Given the description of an element on the screen output the (x, y) to click on. 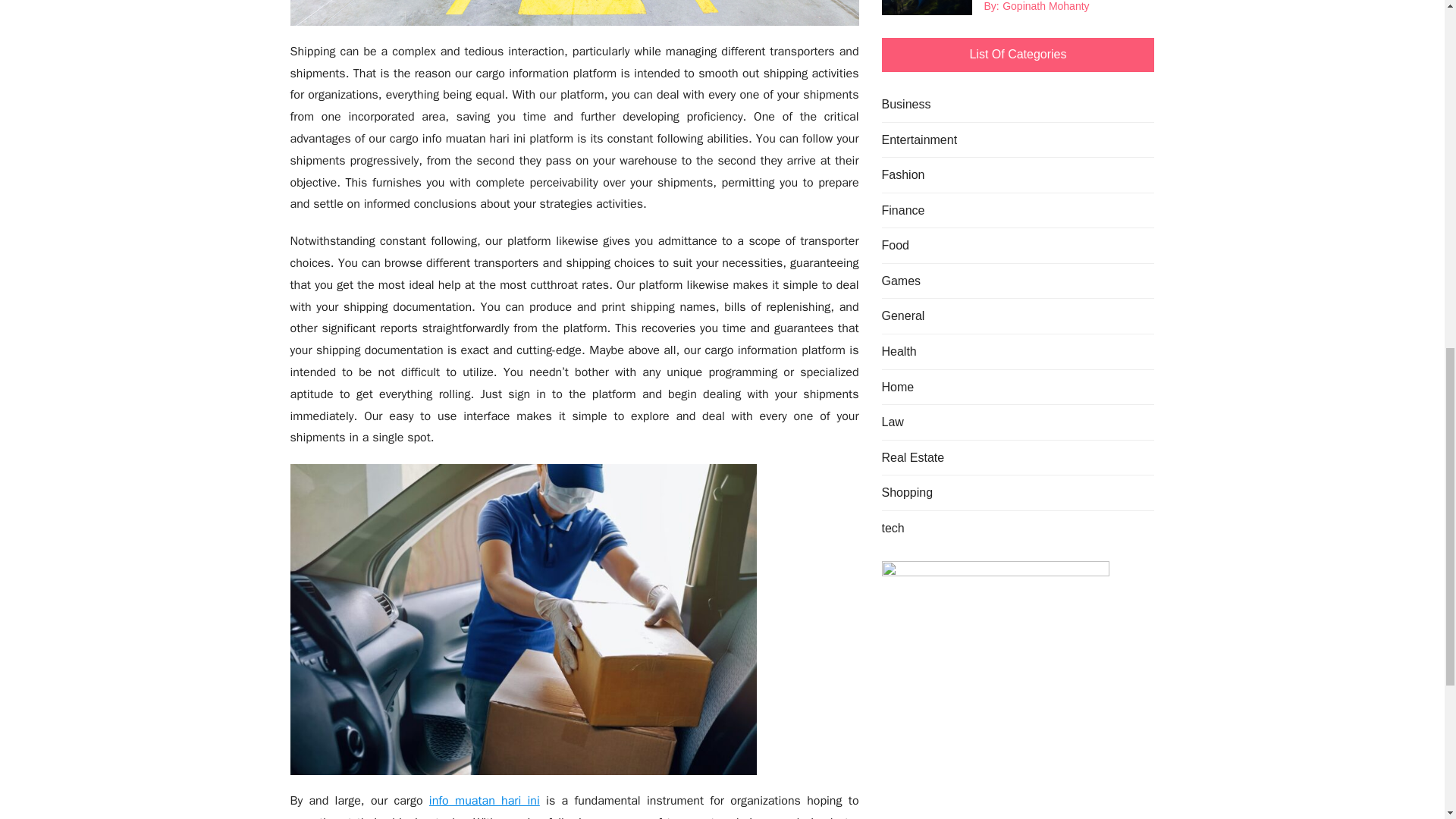
Food (894, 245)
Games (900, 281)
Entertainment (918, 139)
Business (905, 104)
Fashion (902, 175)
Gopinath Mohanty (1046, 7)
info muatan hari ini (484, 800)
Finance (902, 210)
